Given the description of an element on the screen output the (x, y) to click on. 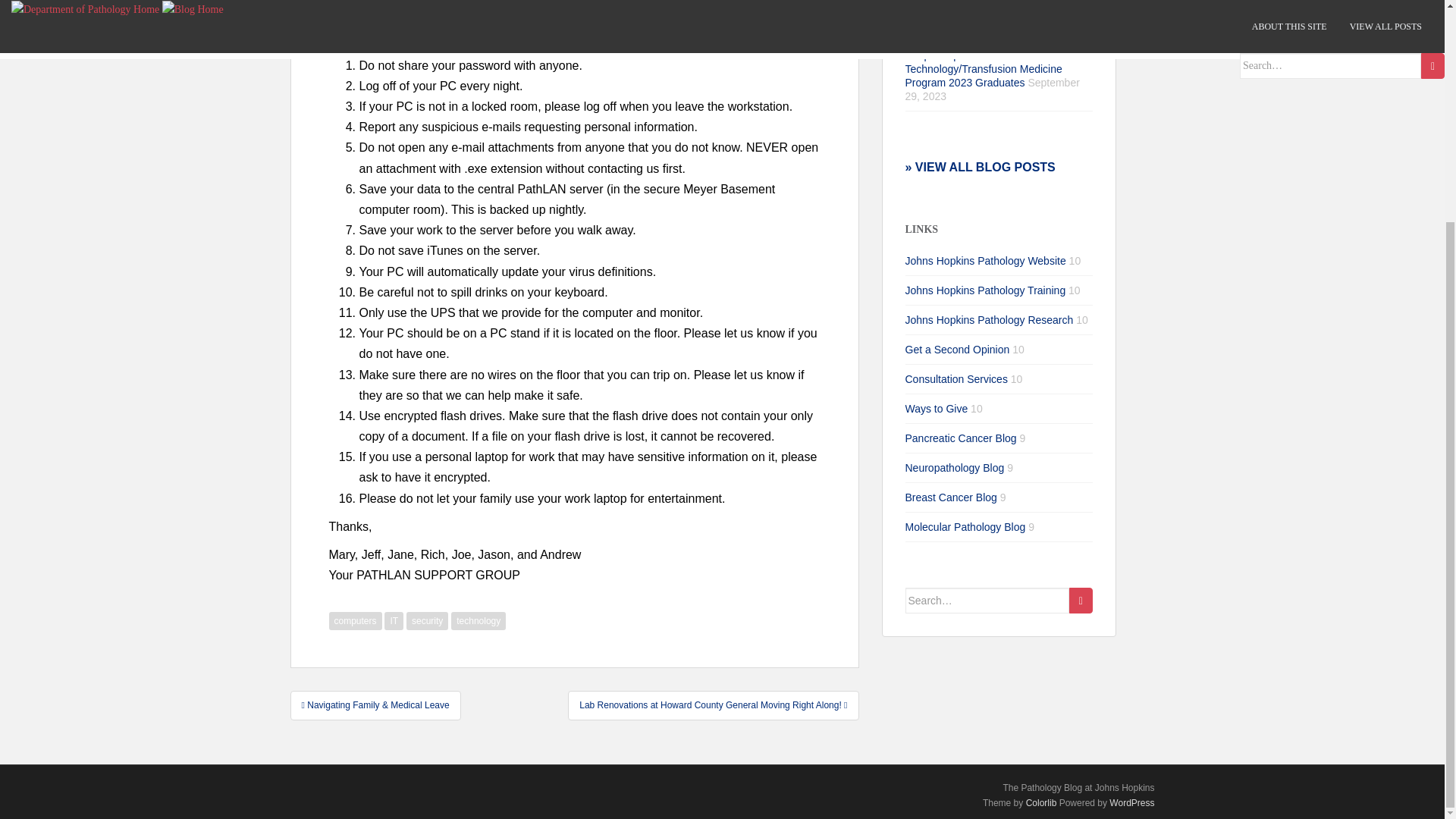
Johns Hopkins Pathology Research (989, 319)
Is It Safe??? (772, 27)
VIEW ALL BLOG POSTS (982, 166)
Ways to Give (936, 408)
security (427, 620)
Breast Cancer Blog (951, 497)
Colorlib (1041, 802)
IT (393, 620)
Search for: (986, 600)
technology (478, 620)
Molecular Pathology Blog (965, 526)
Lab Renovations at Howard County General Moving Right Along! (713, 705)
Pancreatic Cancer Blog (960, 438)
Search (1080, 600)
computers (355, 620)
